Given the description of an element on the screen output the (x, y) to click on. 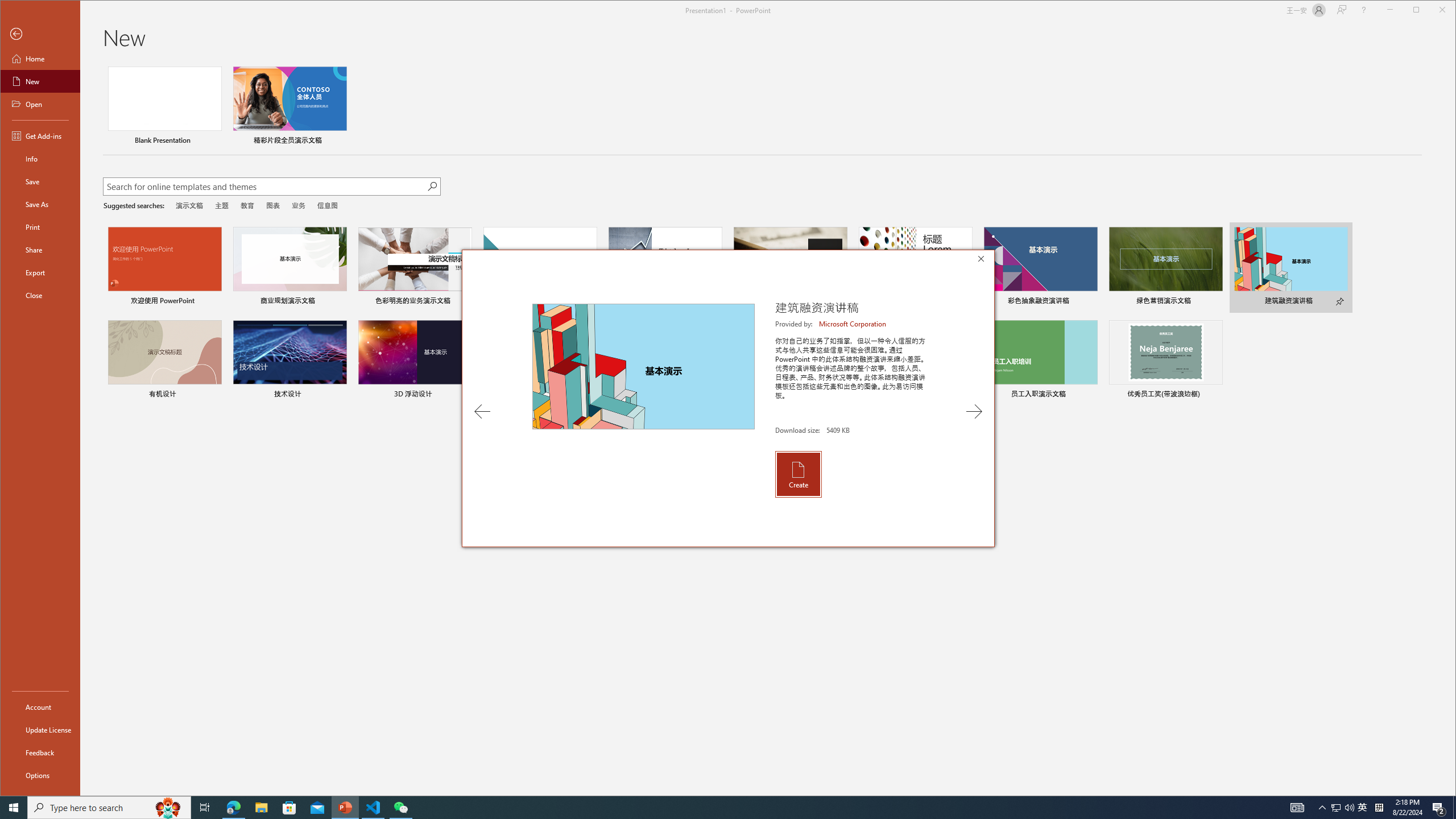
Microsoft Corporation (853, 323)
Search for online templates and themes (264, 187)
Account (40, 706)
Back (40, 34)
Save As (40, 203)
Info (40, 158)
